Given the description of an element on the screen output the (x, y) to click on. 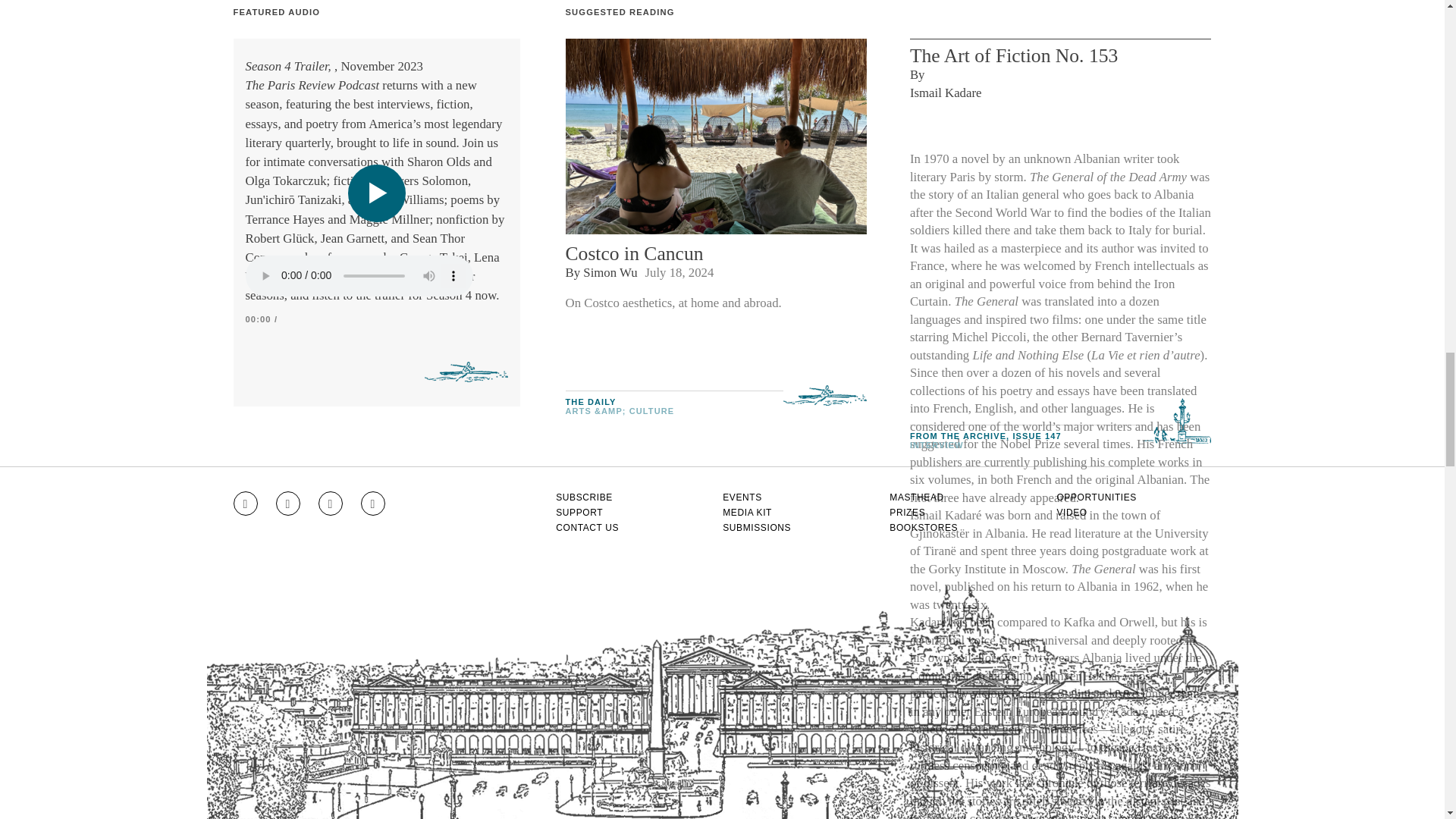
Go to RSS feed (373, 503)
Go to Instagram feed (244, 503)
Go to Facebook page (287, 503)
Go to Twitter feed (330, 503)
